Given the description of an element on the screen output the (x, y) to click on. 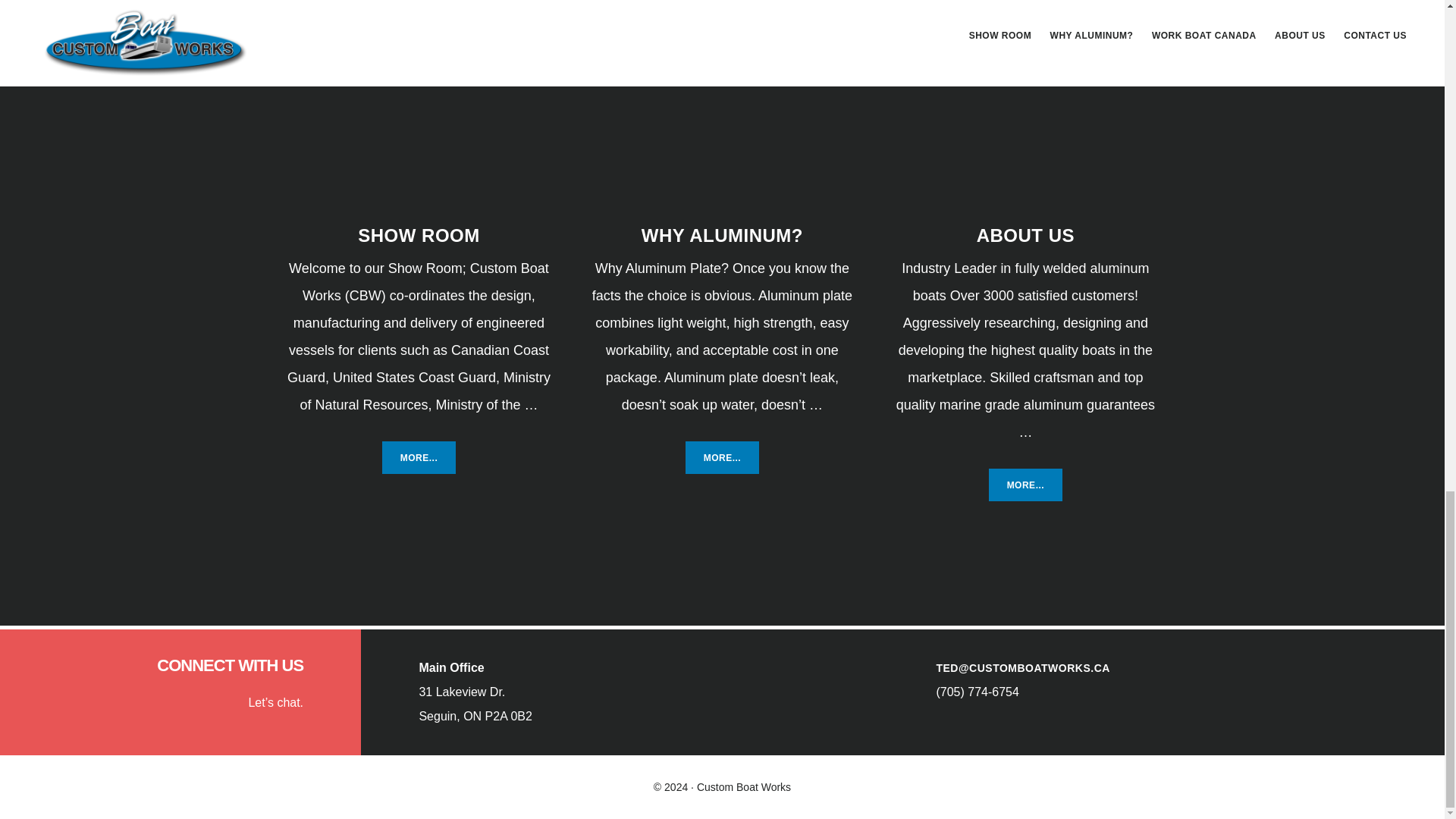
SHOW ROOM (419, 235)
ABOUT US (1025, 235)
WHY ALUMINUM? (722, 458)
Custom Boat Works (1025, 485)
